Given the description of an element on the screen output the (x, y) to click on. 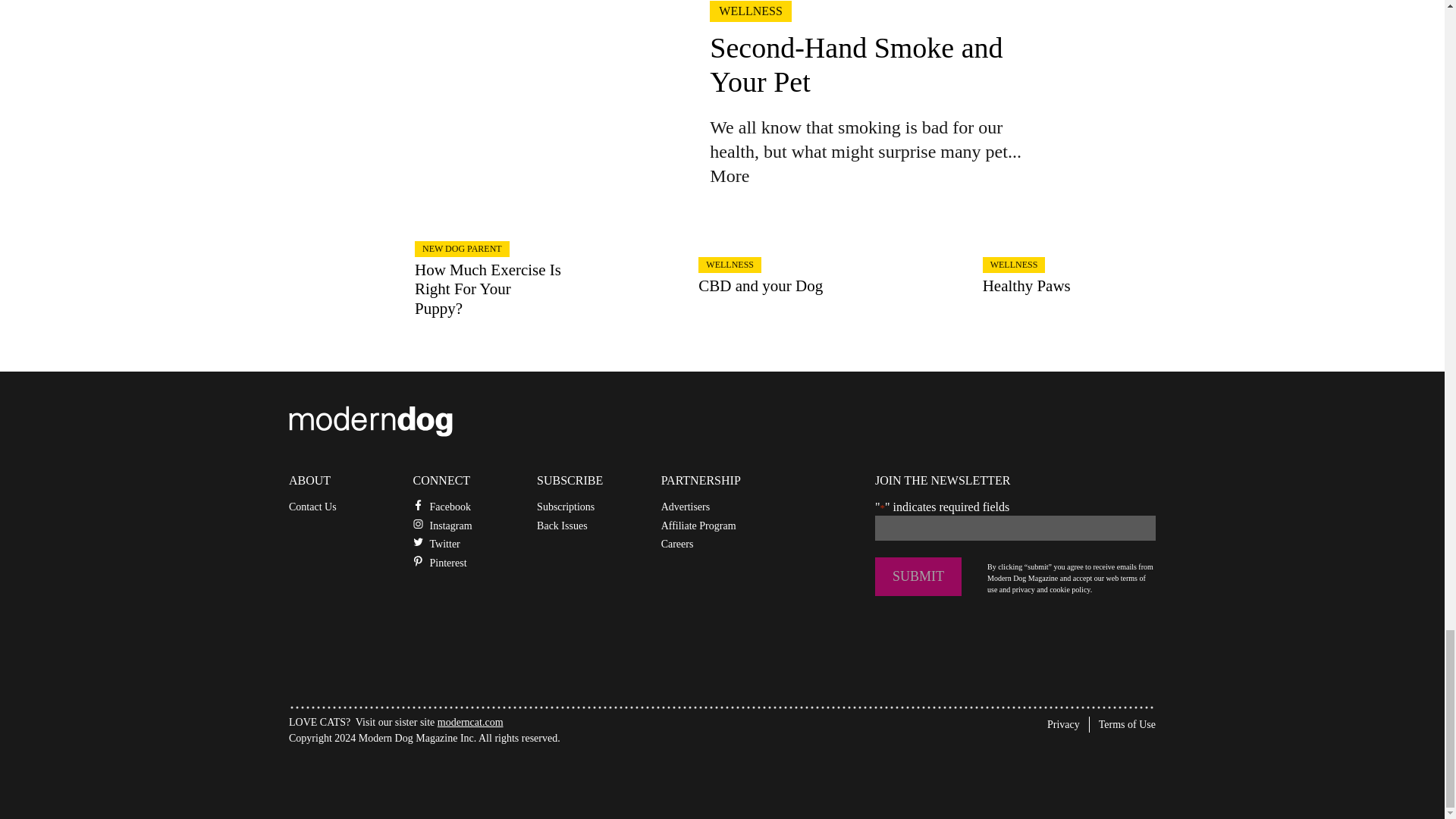
Funded by the Government of Canada (402, 775)
Submit (917, 576)
